Given the description of an element on the screen output the (x, y) to click on. 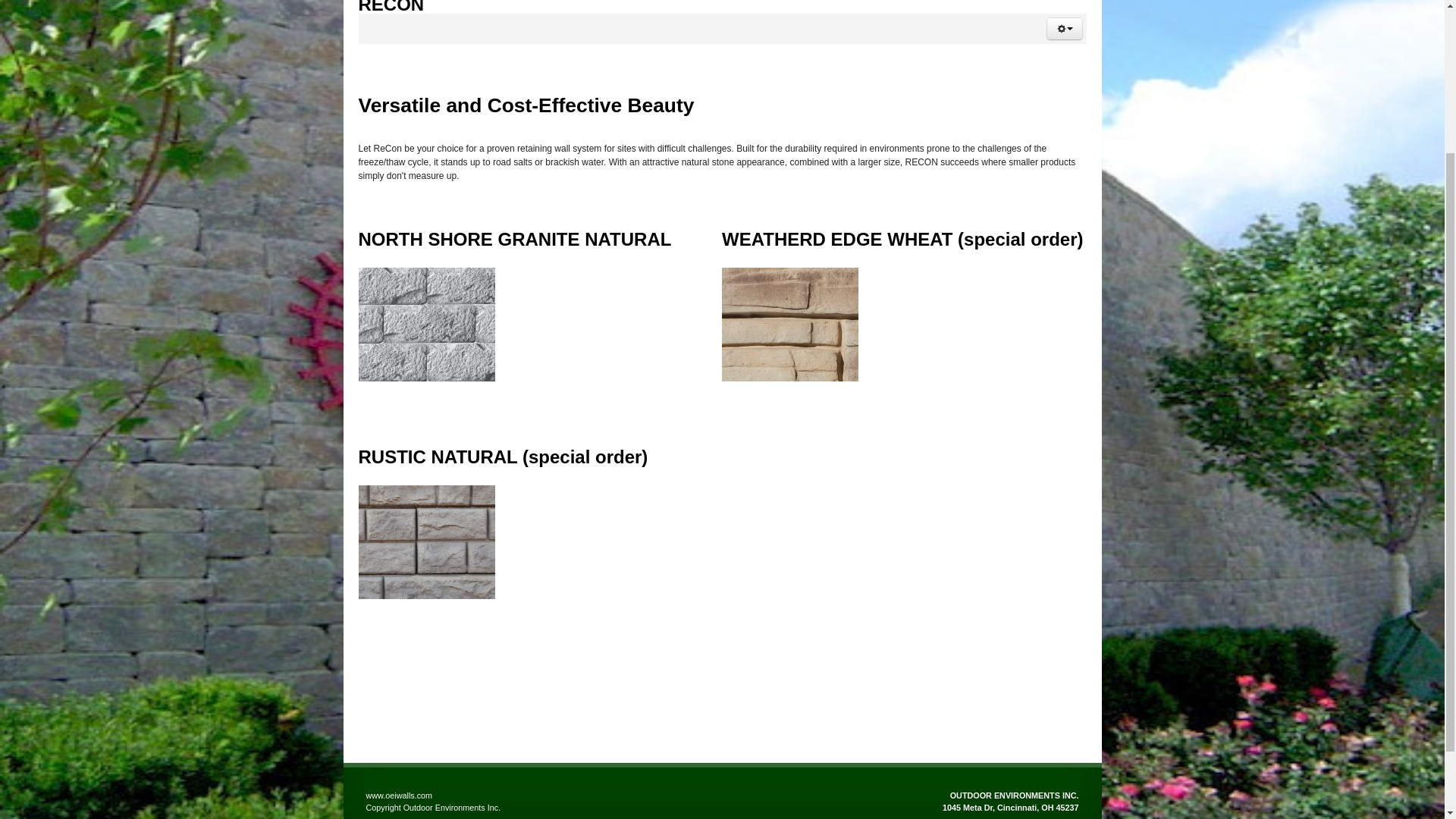
www.oeiwalls.com (398, 795)
